Given the description of an element on the screen output the (x, y) to click on. 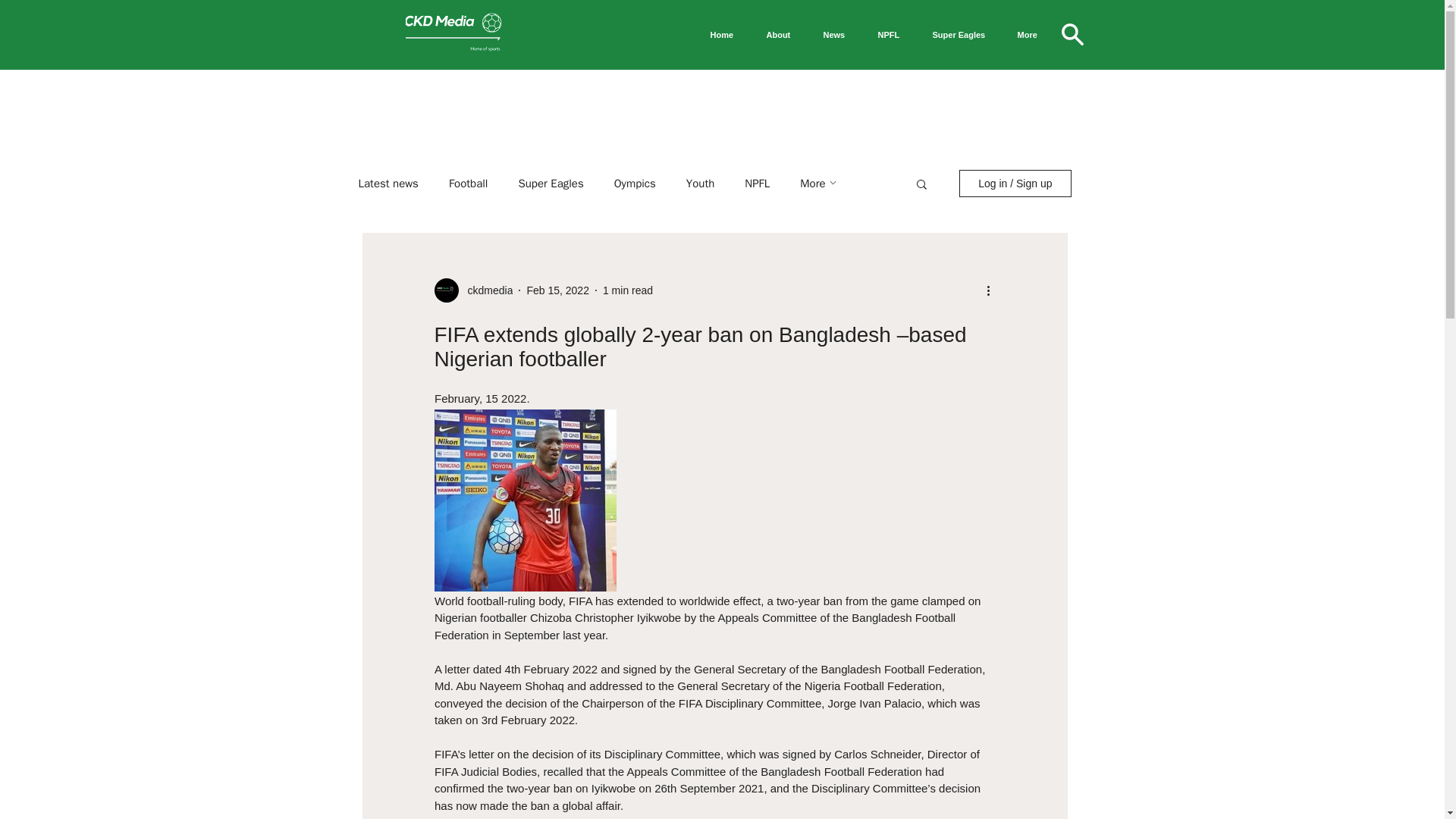
Oympics (635, 183)
Home (726, 34)
Latest news (387, 183)
About (783, 34)
1 min read (627, 289)
NPFL (757, 183)
Feb 15, 2022 (557, 289)
ckdmedia (472, 290)
NPFL (893, 34)
ckdmedia (485, 289)
Super Eagles (550, 183)
Football (467, 183)
Youth (699, 183)
Super Eagles (963, 34)
News (838, 34)
